Given the description of an element on the screen output the (x, y) to click on. 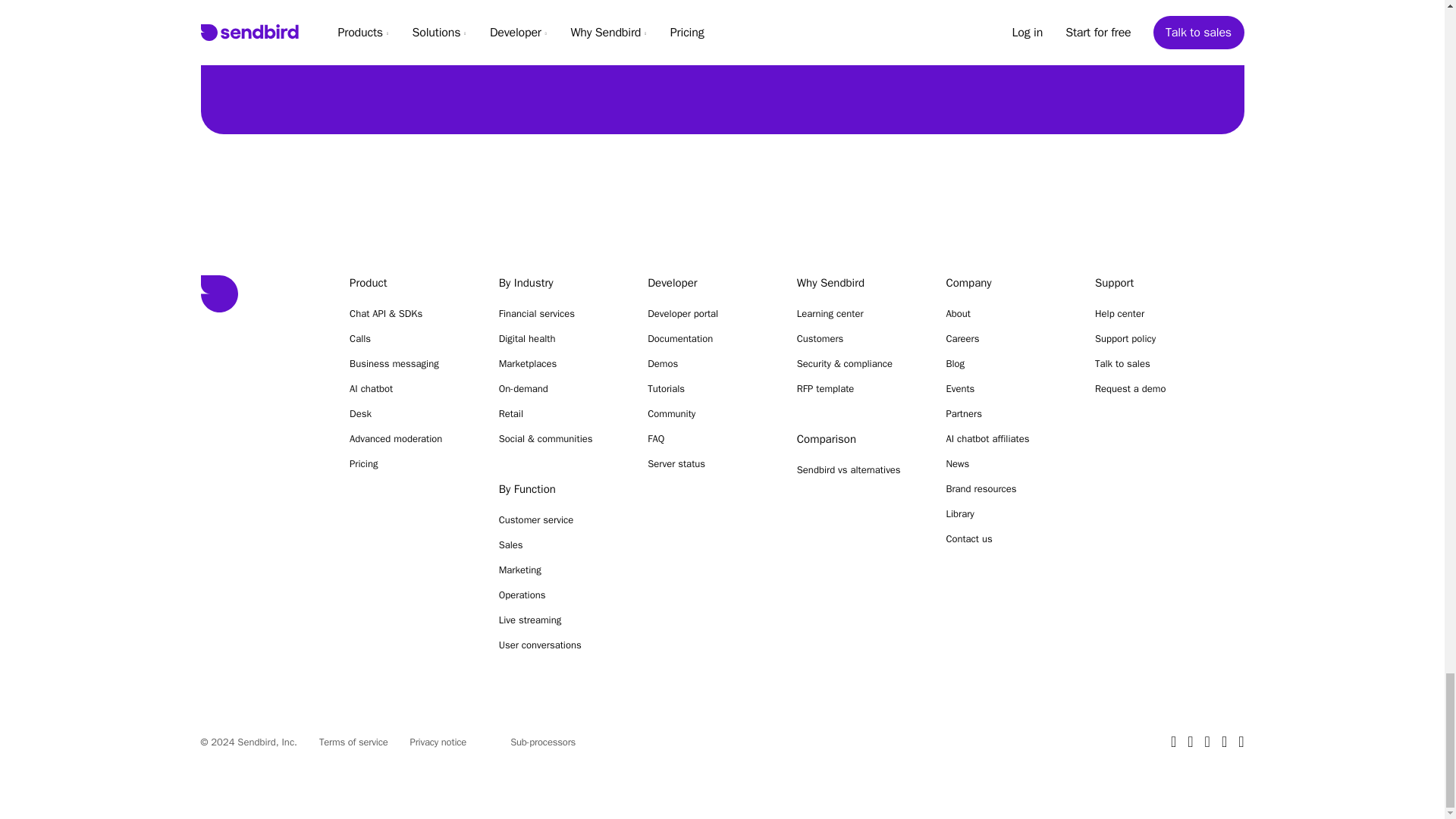
On-demand (558, 388)
Desk (408, 413)
Sales (558, 544)
Marketplaces (558, 363)
Marketing (558, 569)
Retail (558, 413)
Advanced moderation (408, 438)
Live streaming (558, 619)
AI chatbot (408, 388)
Digital health (558, 338)
